Given the description of an element on the screen output the (x, y) to click on. 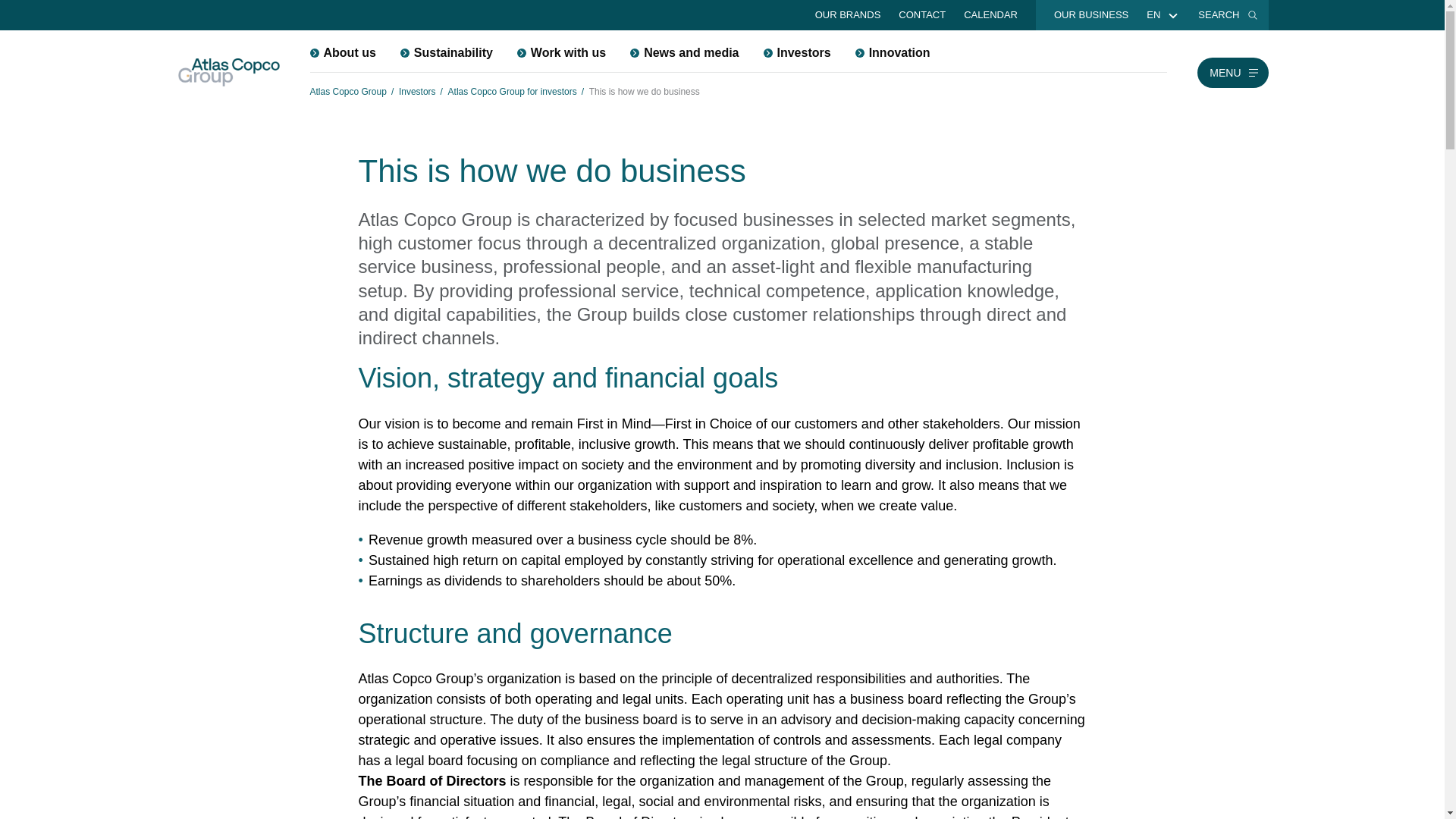
About us (342, 52)
OUR BRANDS (847, 15)
EN (1153, 15)
Investors (416, 91)
OUR BUSINESS (1091, 15)
MENU (1232, 72)
Atlas Copco Group (346, 91)
Investors (797, 52)
Atlas Copco Group for investors (512, 91)
CALENDAR (990, 15)
